Given the description of an element on the screen output the (x, y) to click on. 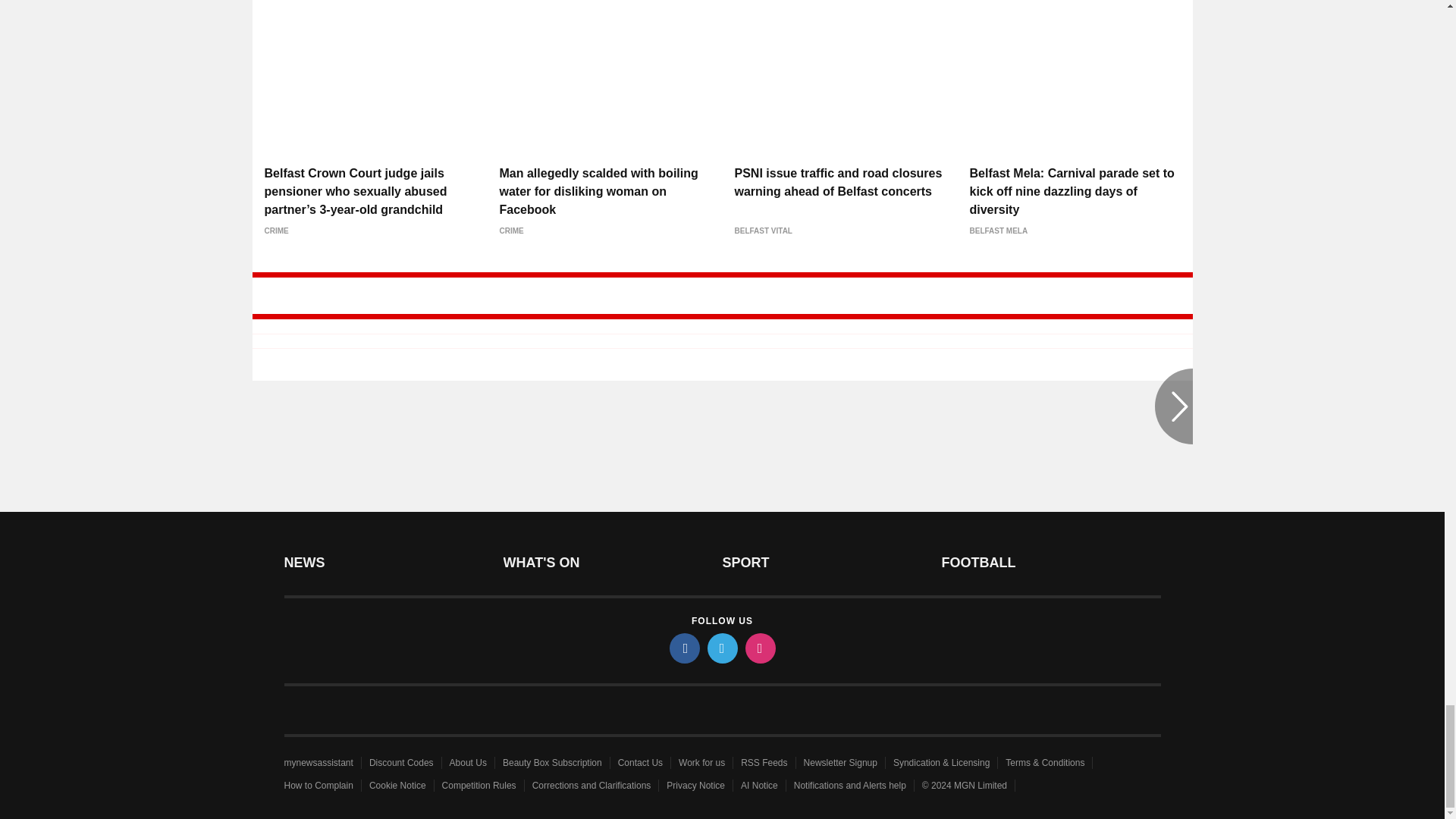
instagram (759, 648)
facebook (683, 648)
twitter (721, 648)
